Given the description of an element on the screen output the (x, y) to click on. 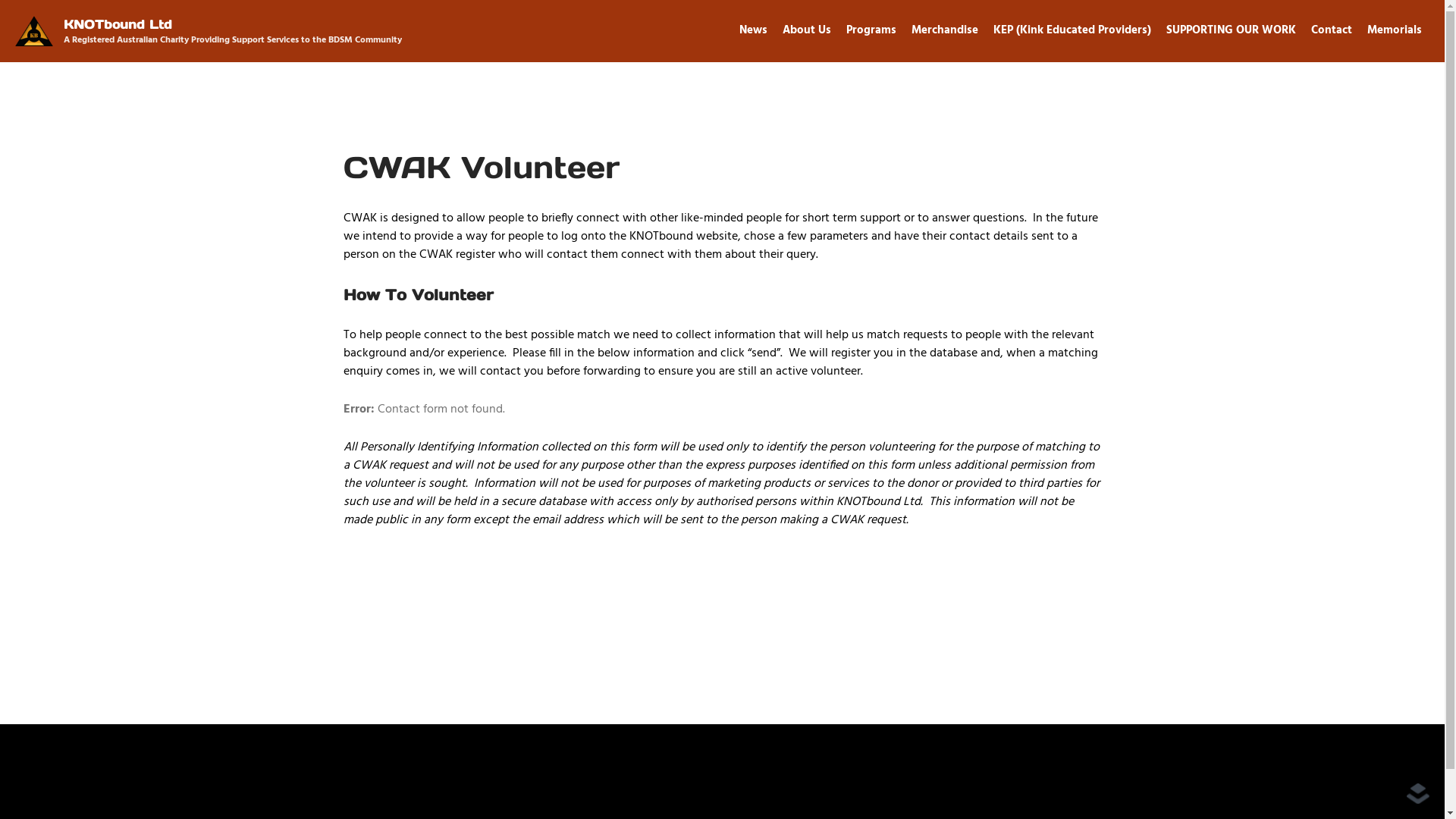
KNOTbound Ltd Element type: text (117, 23)
Programs Element type: text (871, 30)
Memorials Element type: text (1394, 30)
News Element type: text (753, 30)
About Us Element type: text (806, 30)
KEP (Kink Educated Providers) Element type: text (1072, 30)
Merchandise Element type: text (944, 30)
SUPPORTING OUR WORK Element type: text (1230, 30)
Contact Element type: text (1331, 30)
